Given the description of an element on the screen output the (x, y) to click on. 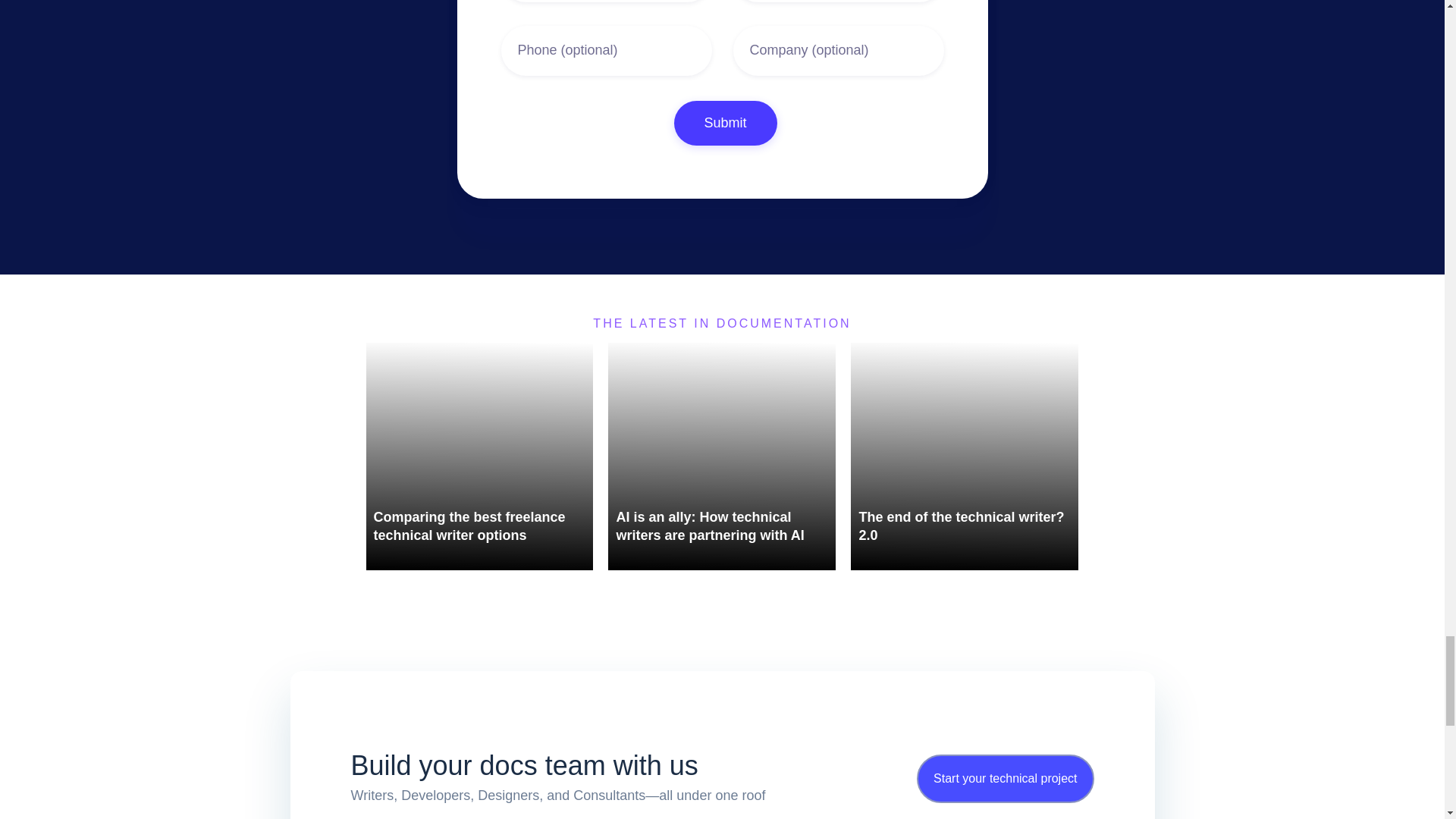
Submit (724, 122)
